Given the description of an element on the screen output the (x, y) to click on. 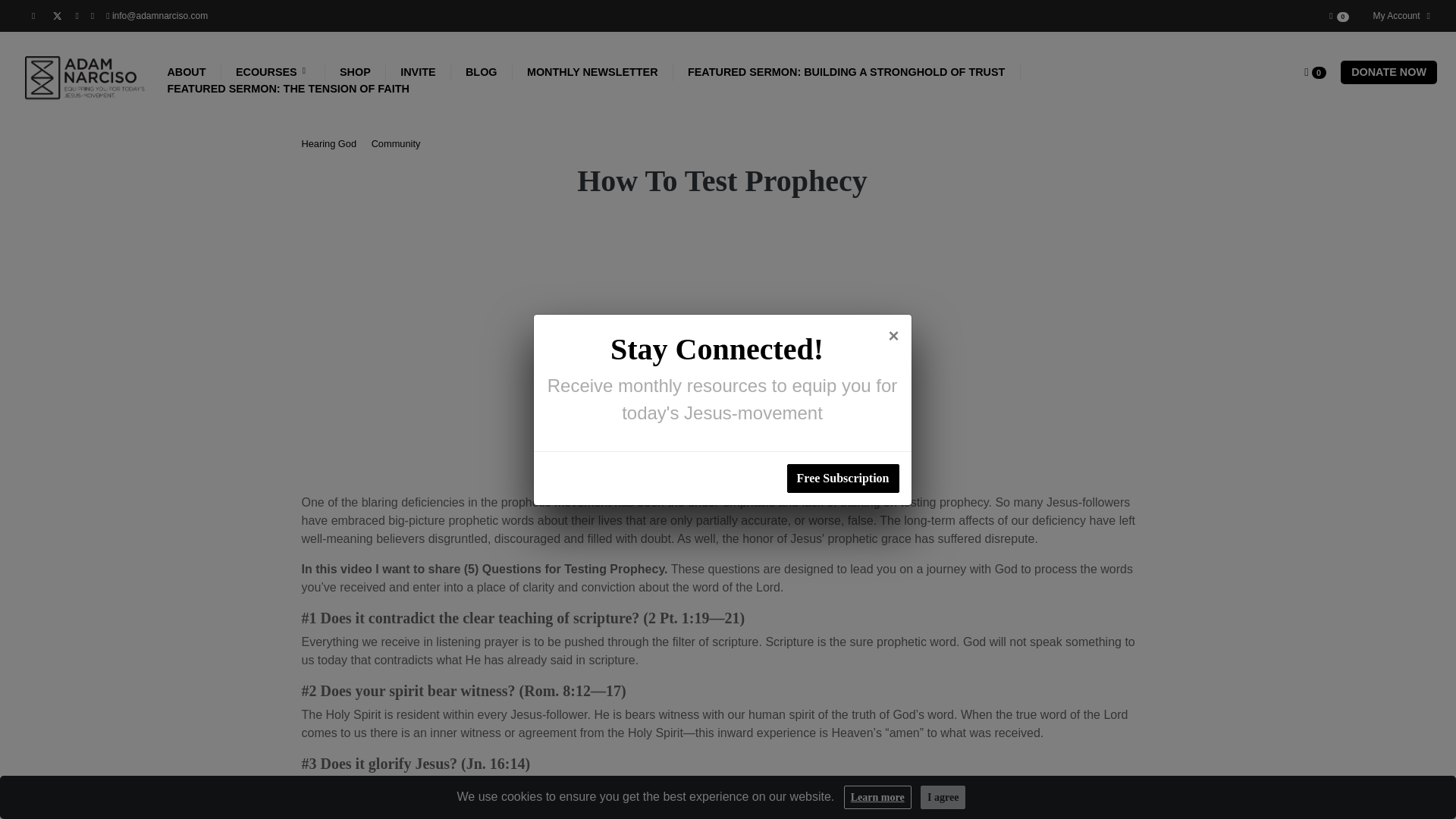
 0 (1315, 72)
My Account (1397, 15)
FEATURED SERMON: BUILDING A STRONGHOLD OF TRUST (846, 72)
0 (1336, 15)
SHOP (354, 72)
MONTHLY NEWSLETTER (592, 72)
DONATE NOW (1389, 72)
FEATURED SERMON: THE TENSION OF FAITH (287, 89)
ECOURSES (272, 72)
BLOG (481, 72)
INVITE (418, 72)
ABOUT (186, 72)
